Given the description of an element on the screen output the (x, y) to click on. 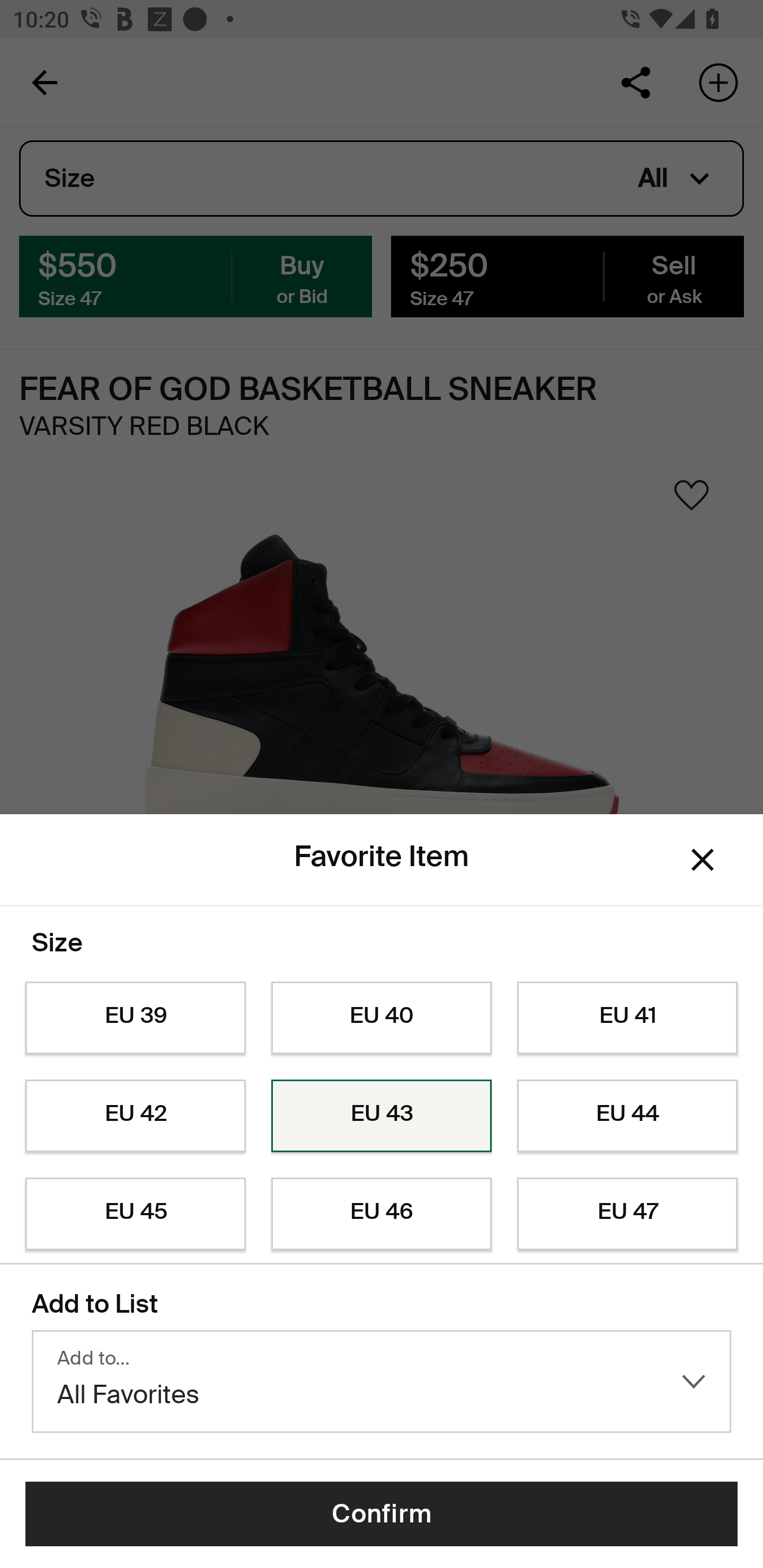
Dismiss (702, 859)
EU 39 (135, 1018)
EU 40 (381, 1018)
EU 41 (627, 1018)
EU 42 (135, 1116)
EU 43 (381, 1116)
EU 44 (627, 1116)
EU 45 (135, 1214)
EU 46 (381, 1214)
EU 47 (627, 1214)
Add to… All Favorites (381, 1381)
Confirm (381, 1513)
